Given the description of an element on the screen output the (x, y) to click on. 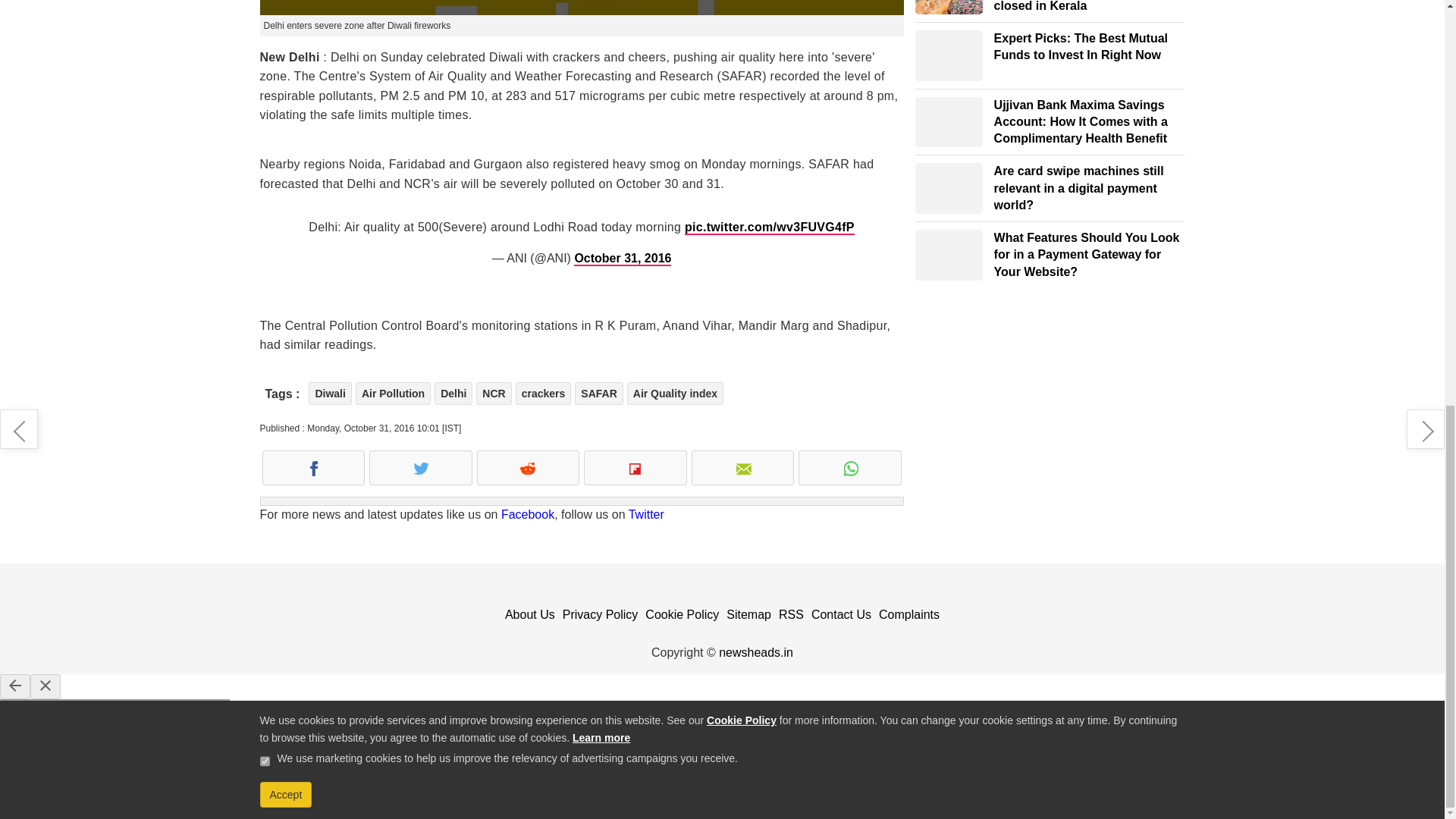
October 31, 2016 (622, 258)
Delhi enters severe zone after Diwali fireworks (580, 7)
Diwali (329, 393)
Air Pollution (392, 393)
NCR (493, 393)
Expert Picks: The Best Mutual Funds to Invest In Right Now (948, 55)
Delhi (452, 393)
